Given the description of an element on the screen output the (x, y) to click on. 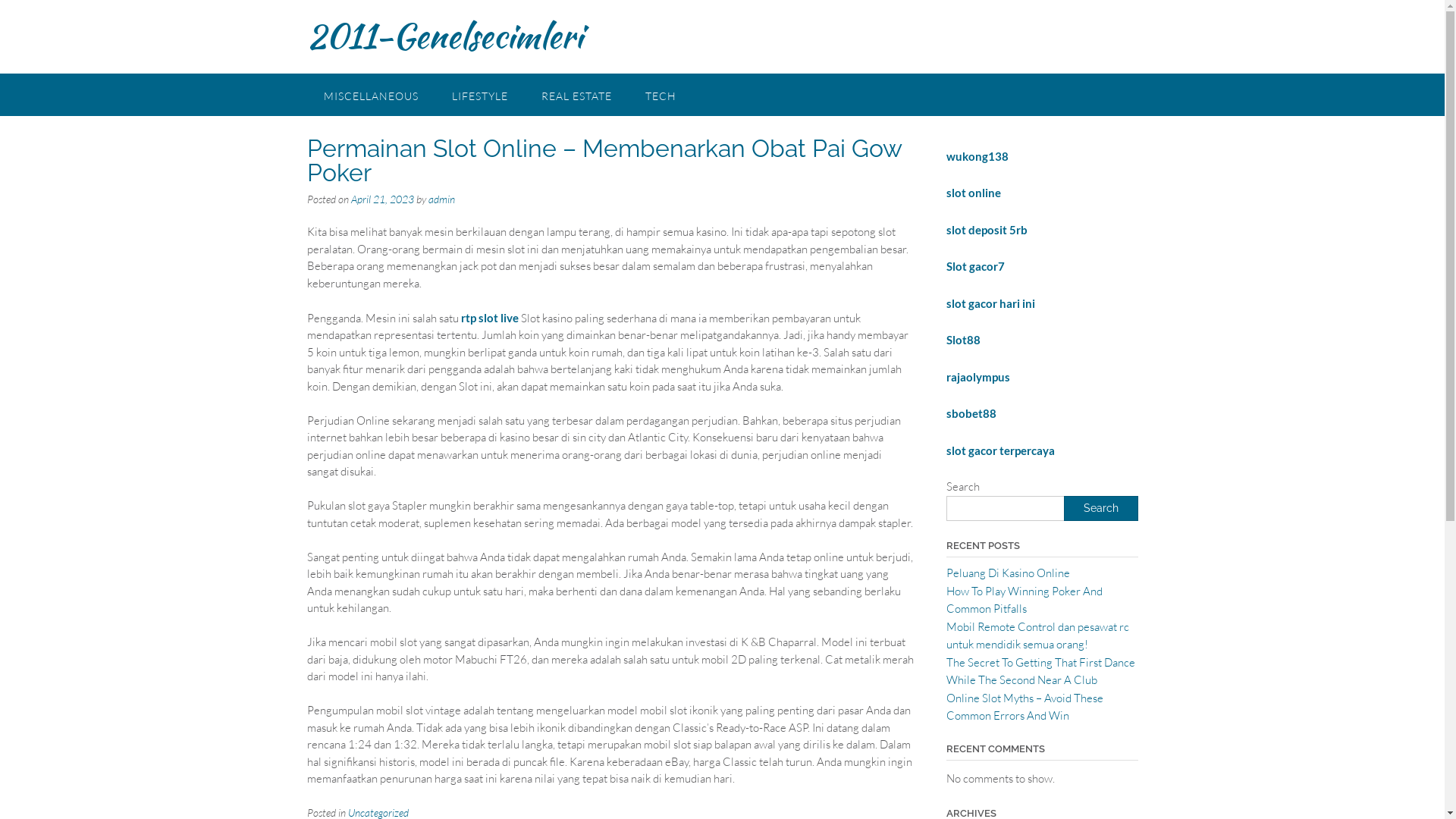
wukong138 Element type: text (977, 155)
rajaolympus Element type: text (978, 377)
How To Play Winning Poker And Common Pitfalls Element type: text (1024, 599)
Peluang Di Kasino Online Element type: text (1008, 572)
REAL ESTATE Element type: text (576, 93)
admin Element type: text (440, 198)
Slot gacor7 Element type: text (975, 266)
TECH Element type: text (659, 93)
Search Element type: text (1100, 507)
sbobet88 Element type: text (971, 413)
MISCELLANEOUS Element type: text (370, 93)
 rtp slot live Element type: text (489, 317)
slot gacor terpercaya Element type: text (1000, 449)
LIFESTYLE Element type: text (479, 93)
Slot88 Element type: text (963, 339)
April 21, 2023 Element type: text (381, 198)
slot gacor hari ini Element type: text (990, 302)
2011-Genelsecimleri Element type: text (443, 35)
slot online Element type: text (973, 192)
slot deposit 5rb Element type: text (986, 229)
